Given the description of an element on the screen output the (x, y) to click on. 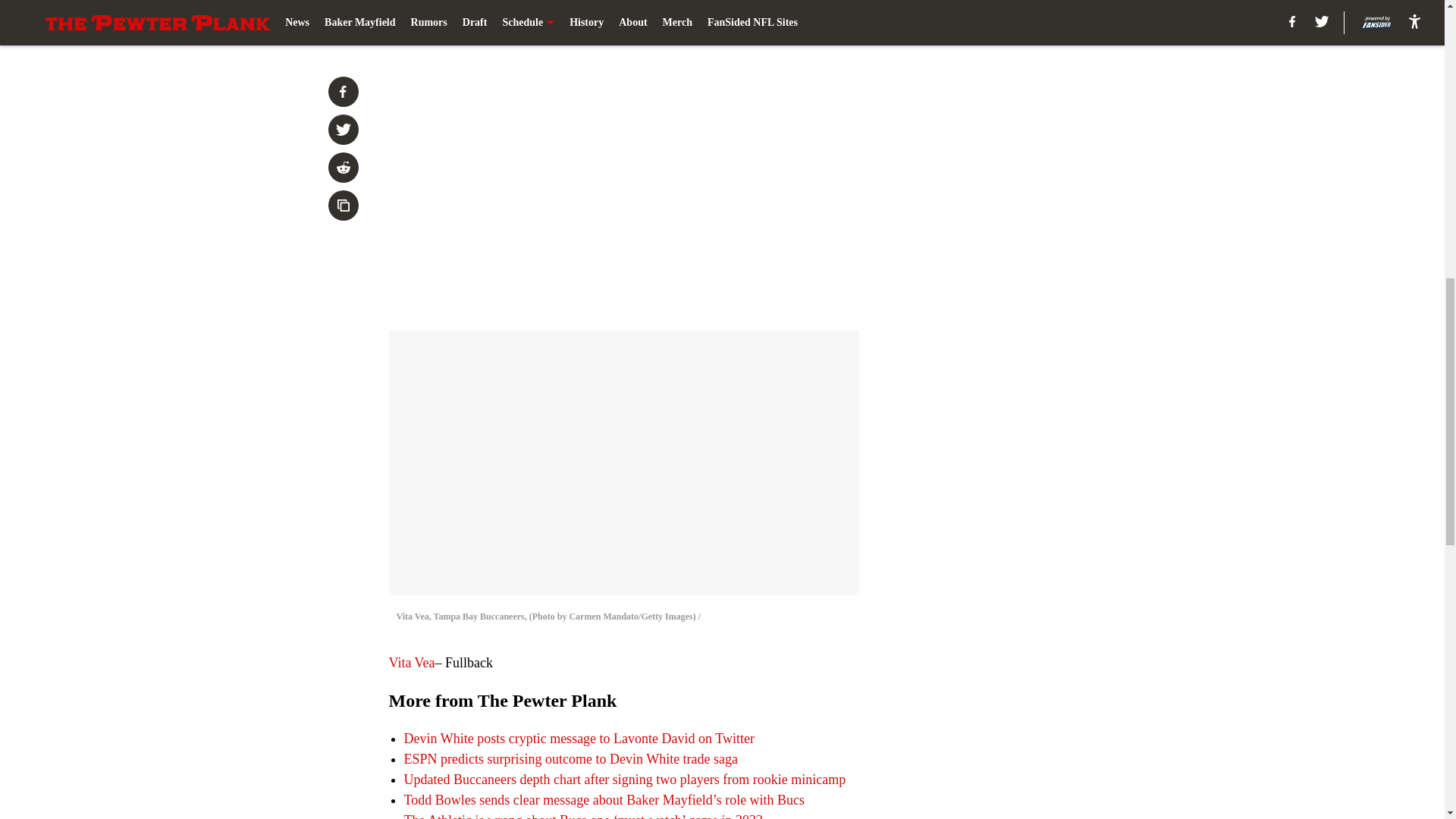
Prev (433, 20)
Next (813, 20)
ESPN predicts surprising outcome to Devin White trade saga (570, 758)
Vita Vea (410, 662)
